Given the description of an element on the screen output the (x, y) to click on. 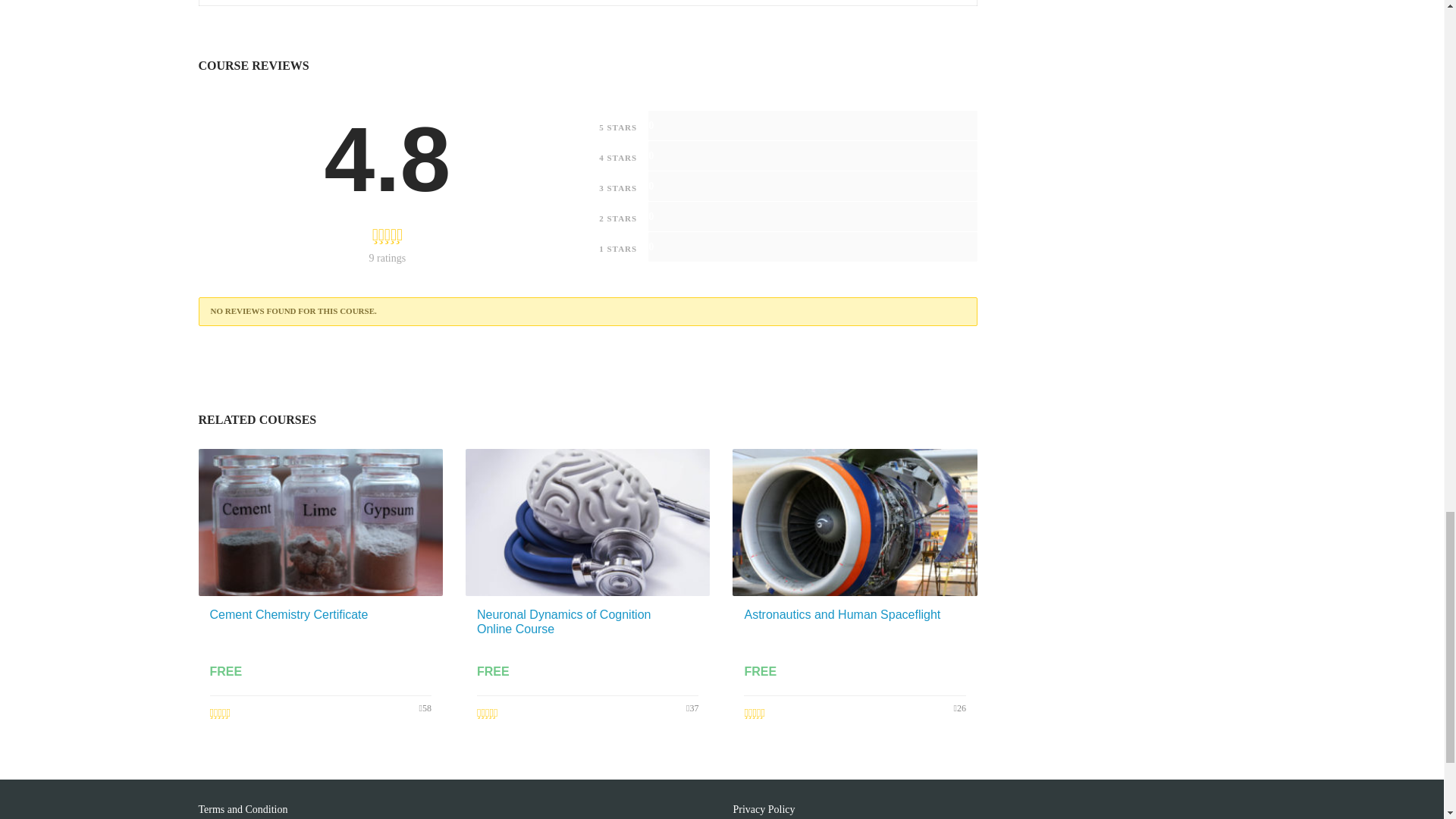
Neuronal Dynamics of Cognition Online Course (563, 621)
Astronautics and Human Spaceflight (842, 614)
Cement Chemistry Certificate (288, 614)
Cement Chemistry Certificate (288, 614)
